Given the description of an element on the screen output the (x, y) to click on. 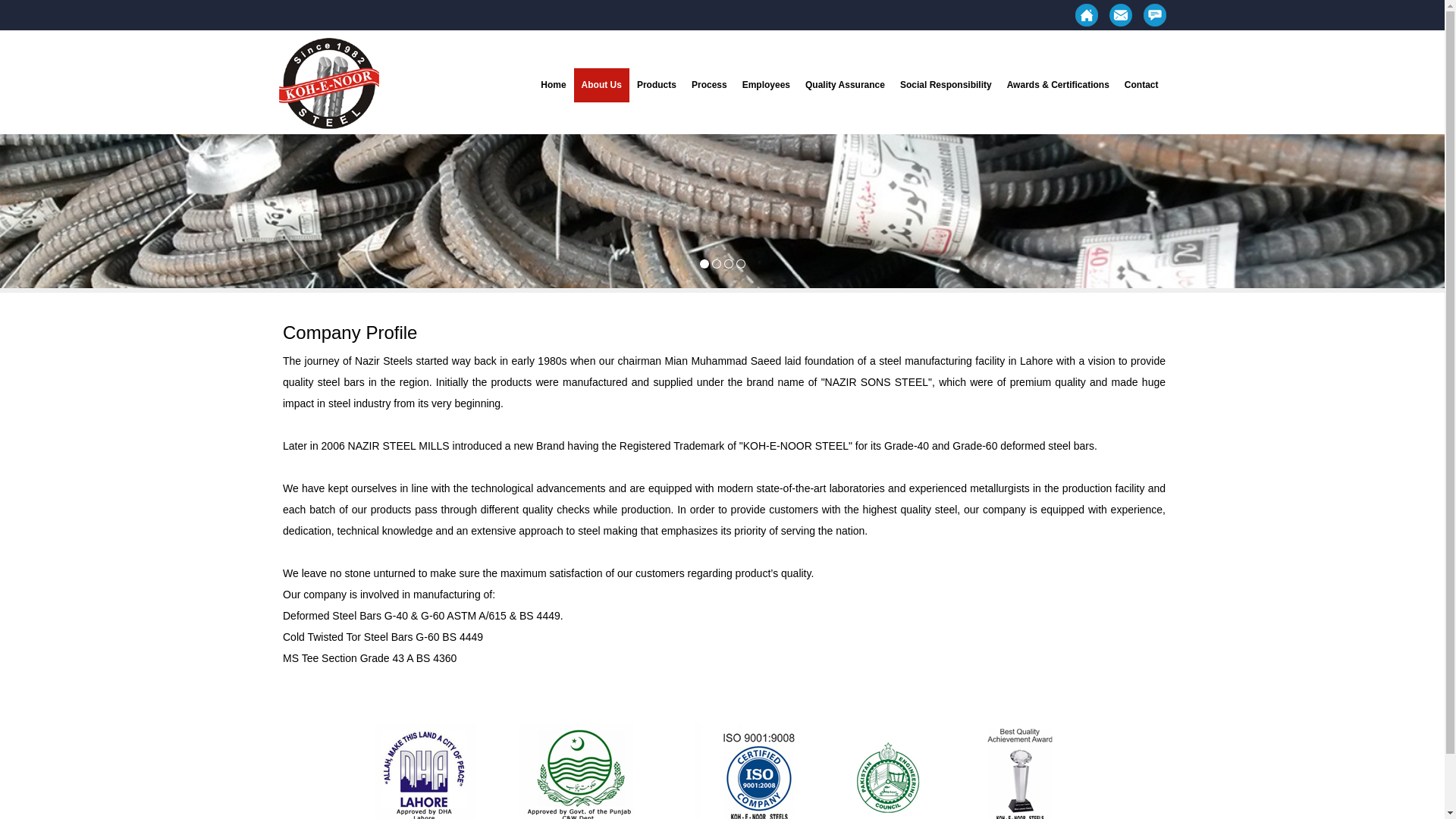
Home (552, 84)
Social Responsibility (945, 84)
Products (656, 84)
Employees (766, 84)
About Us (600, 84)
Process (709, 84)
Quality Assurance (844, 84)
Contact (1141, 84)
